Given the description of an element on the screen output the (x, y) to click on. 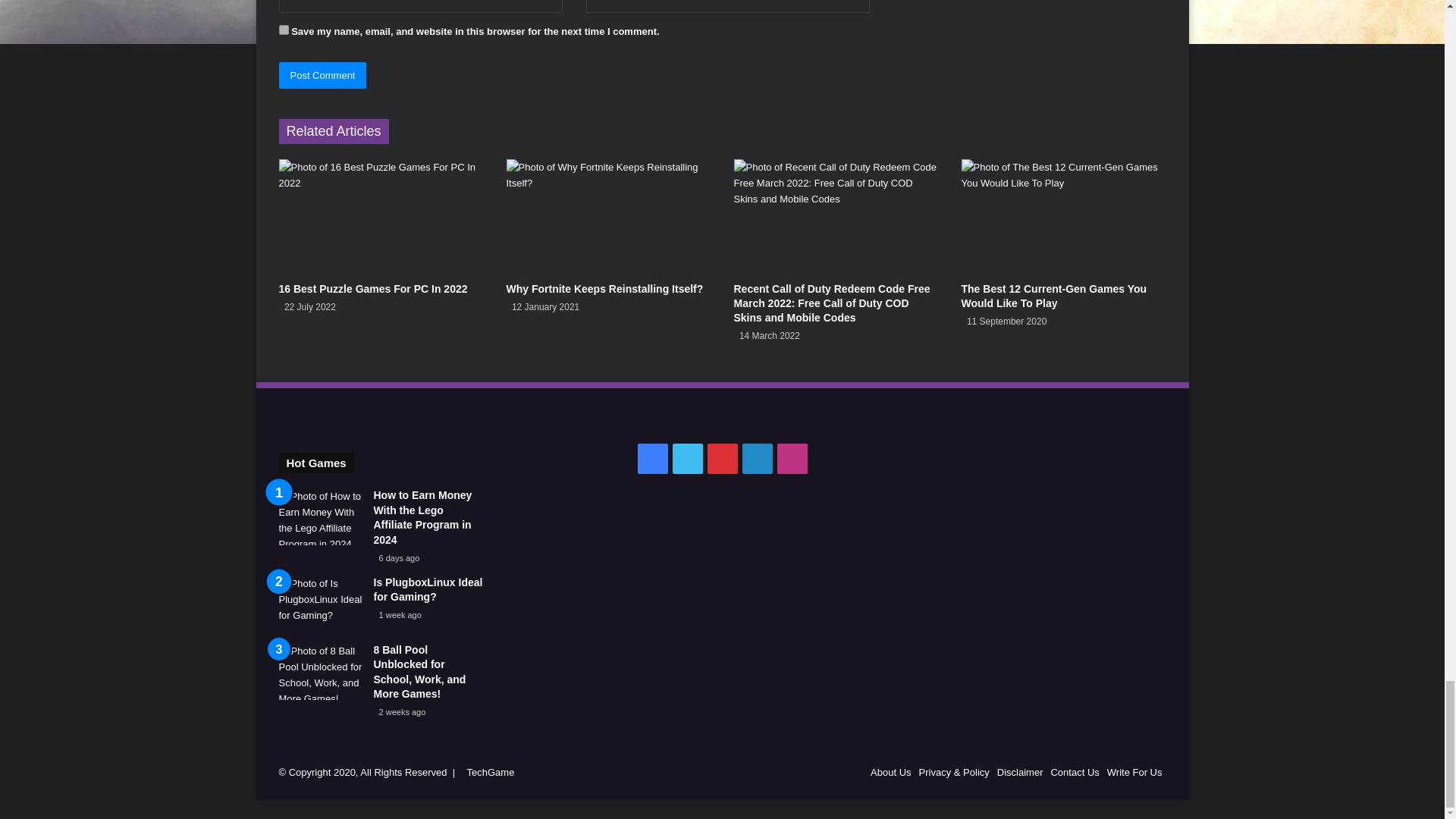
yes (283, 30)
Post Comment (322, 75)
